Given the description of an element on the screen output the (x, y) to click on. 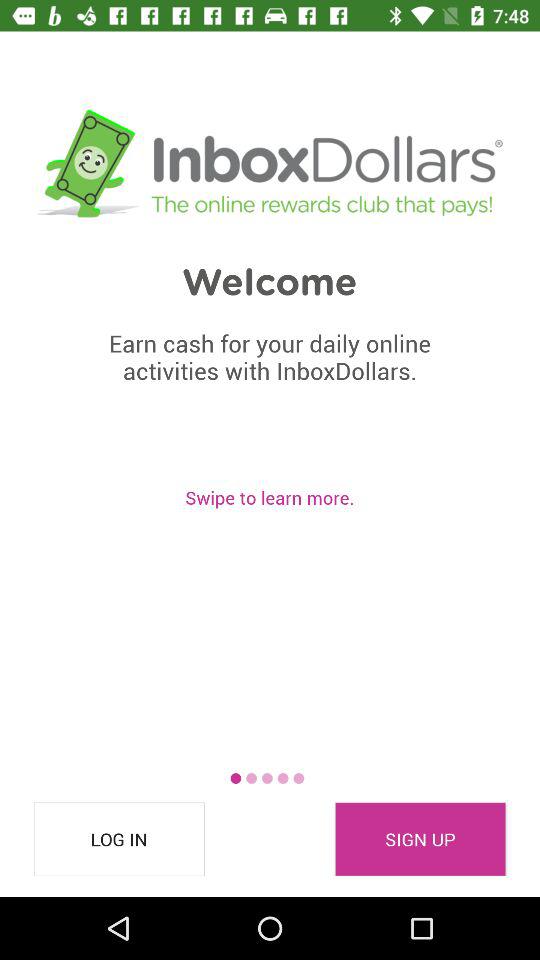
turn on sign up item (420, 839)
